Given the description of an element on the screen output the (x, y) to click on. 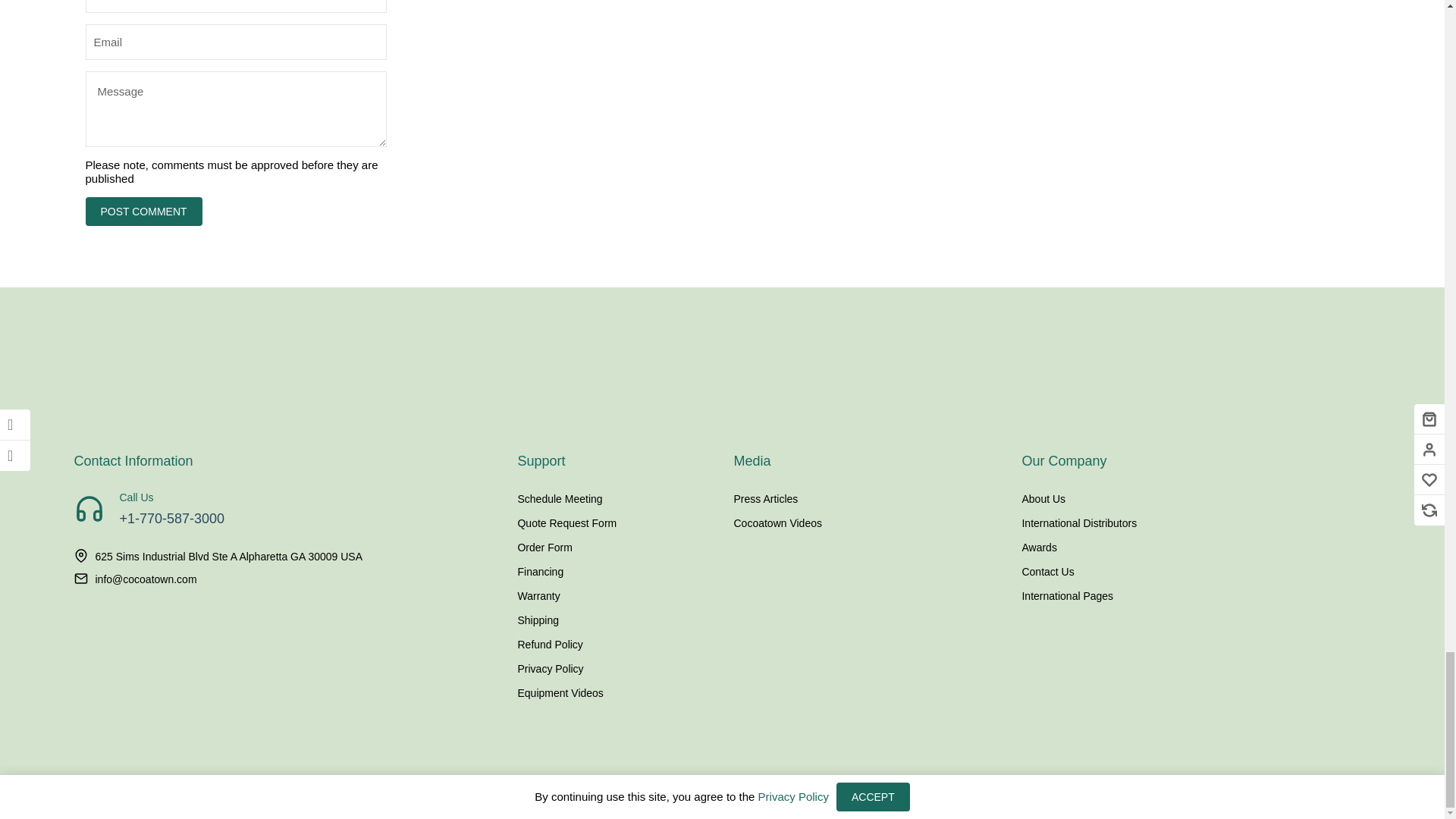
Post Comment (143, 211)
